Given the description of an element on the screen output the (x, y) to click on. 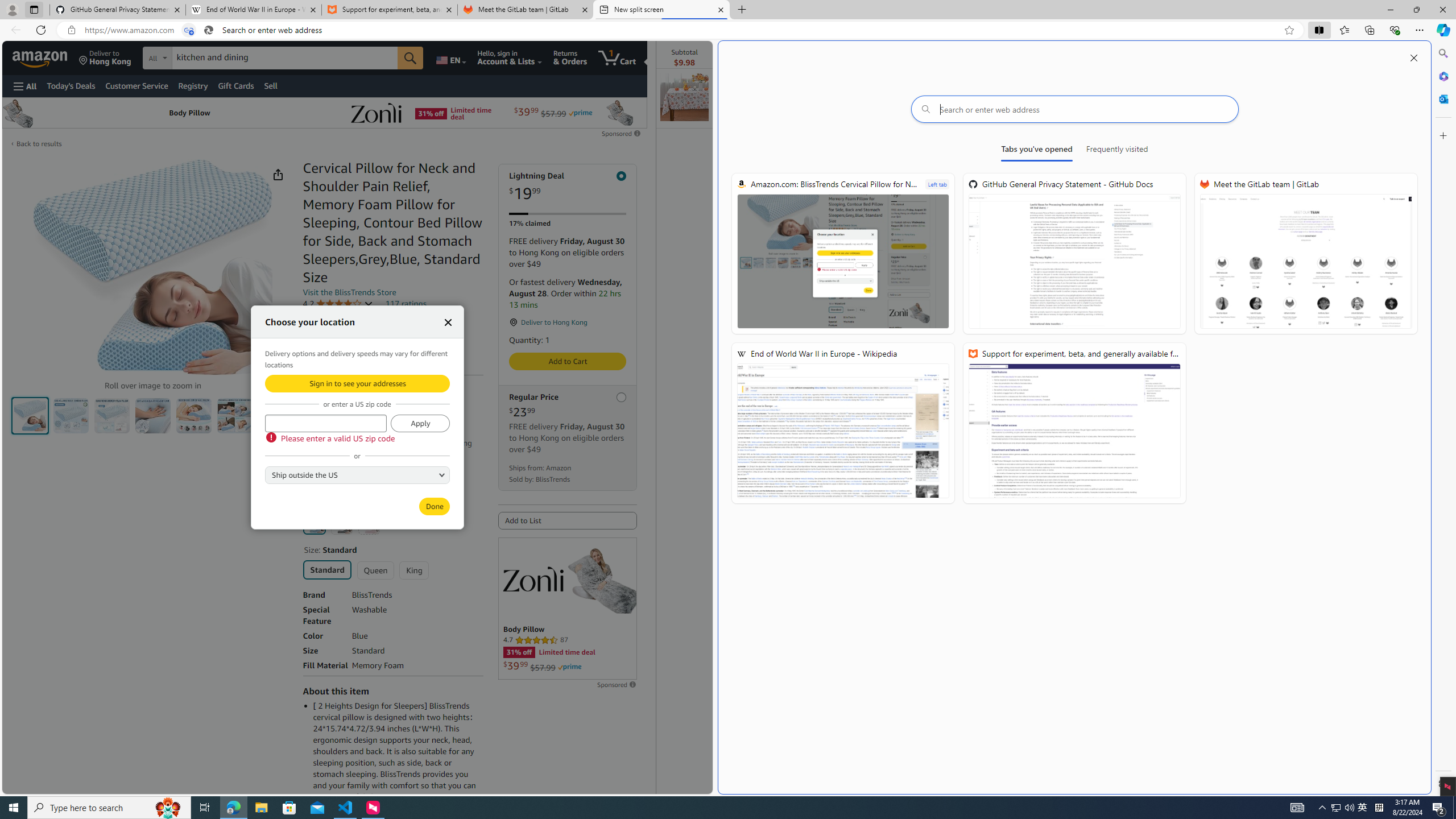
117 ratings (405, 303)
Add to Cart (567, 360)
1 item in cart (616, 57)
Meet the GitLab team | GitLab (1305, 253)
Tabs in split screen (189, 29)
Visit the BlissTrends Store (349, 292)
Blue (314, 522)
Customer Service (136, 85)
End of World War II in Europe - Wikipedia (253, 9)
Grey (341, 522)
Done (434, 506)
Skip to main content (48, 56)
End of World War II in Europe - Wikipedia (842, 423)
